Given the description of an element on the screen output the (x, y) to click on. 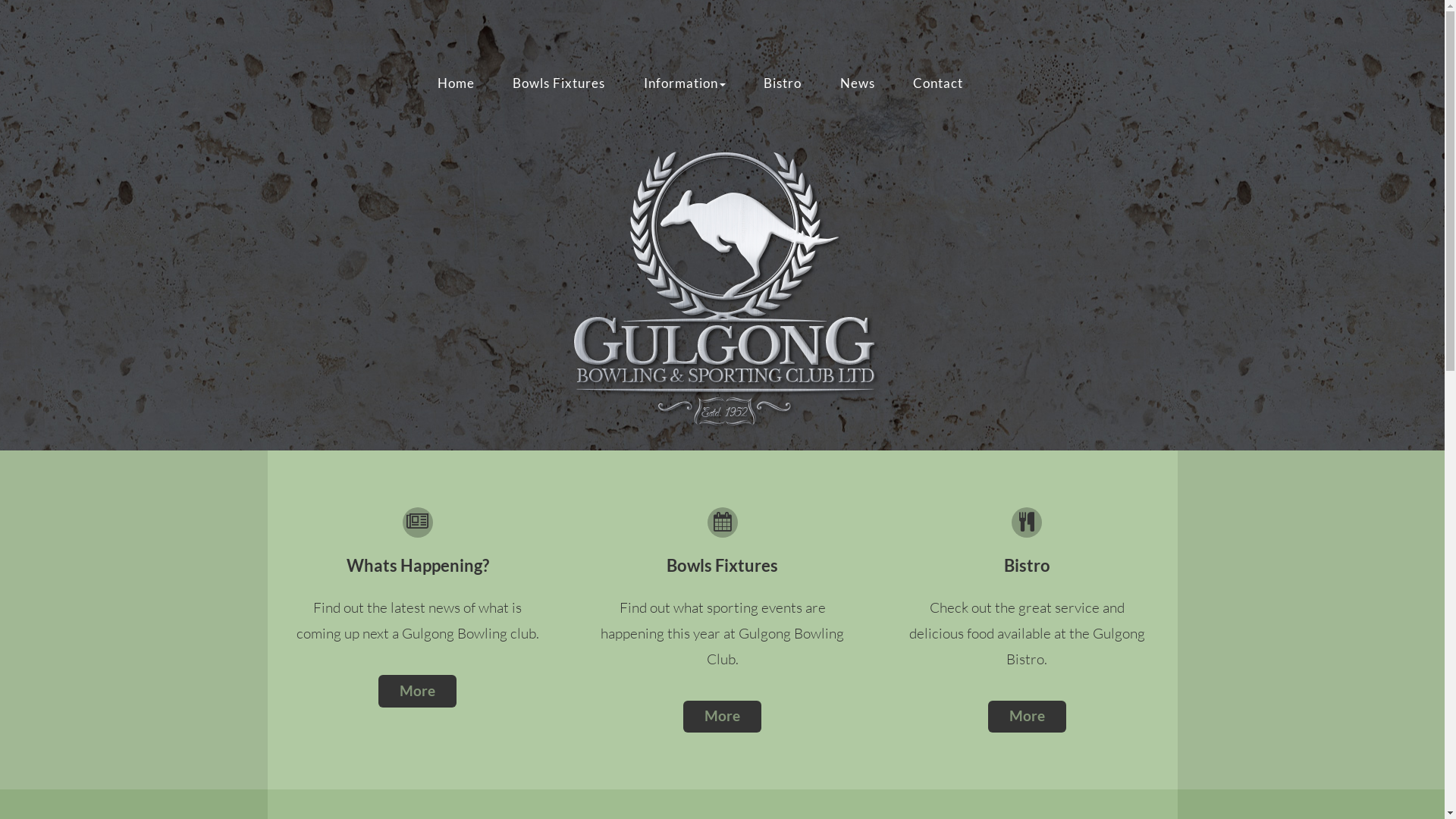
Information Element type: text (683, 83)
More Element type: text (722, 716)
More Element type: text (417, 690)
More Element type: text (1027, 716)
Bistro Element type: text (782, 83)
Bowls Fixtures Element type: text (558, 83)
Home Element type: text (455, 83)
Contact Element type: text (938, 83)
News Element type: text (856, 83)
